Given the description of an element on the screen output the (x, y) to click on. 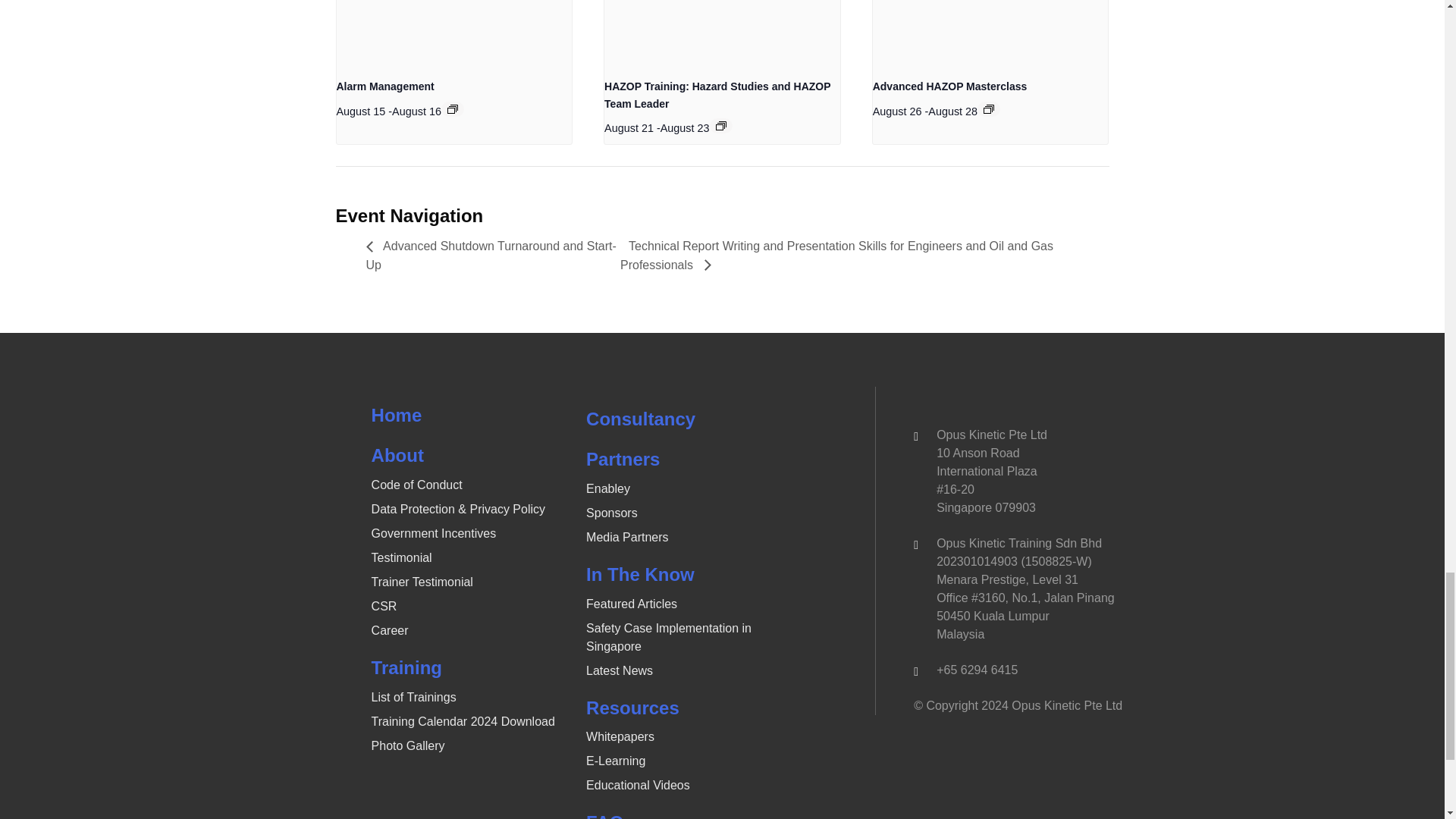
Event Series (721, 125)
Event Series (989, 108)
Event Series (452, 108)
